Given the description of an element on the screen output the (x, y) to click on. 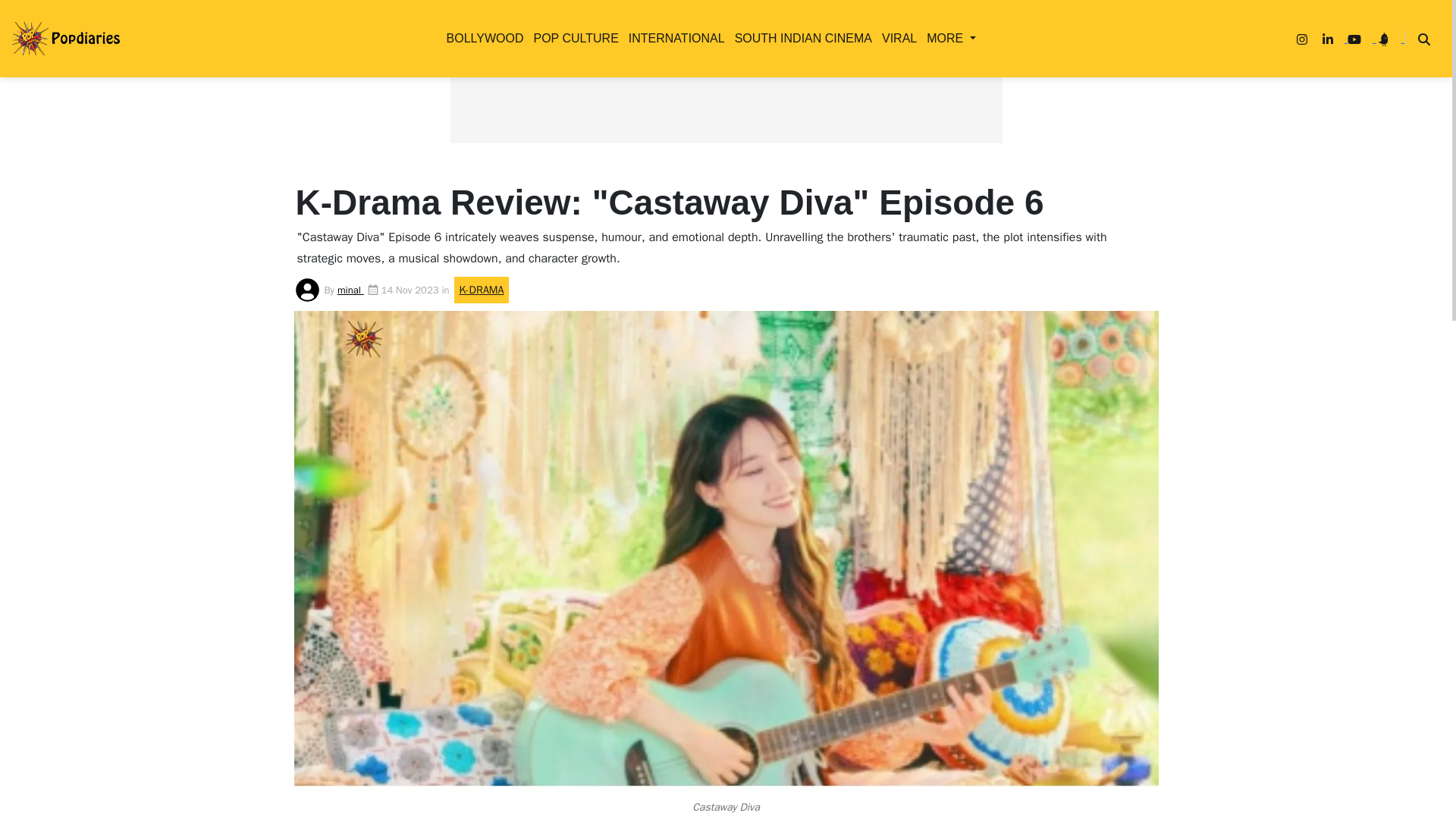
BOLLYWOOD (482, 38)
POP CULTURE (572, 38)
minal (350, 289)
INTERNATIONAL (674, 38)
SOUTH INDIAN CINEMA (800, 38)
K-DRAMA (370, 222)
